Given the description of an element on the screen output the (x, y) to click on. 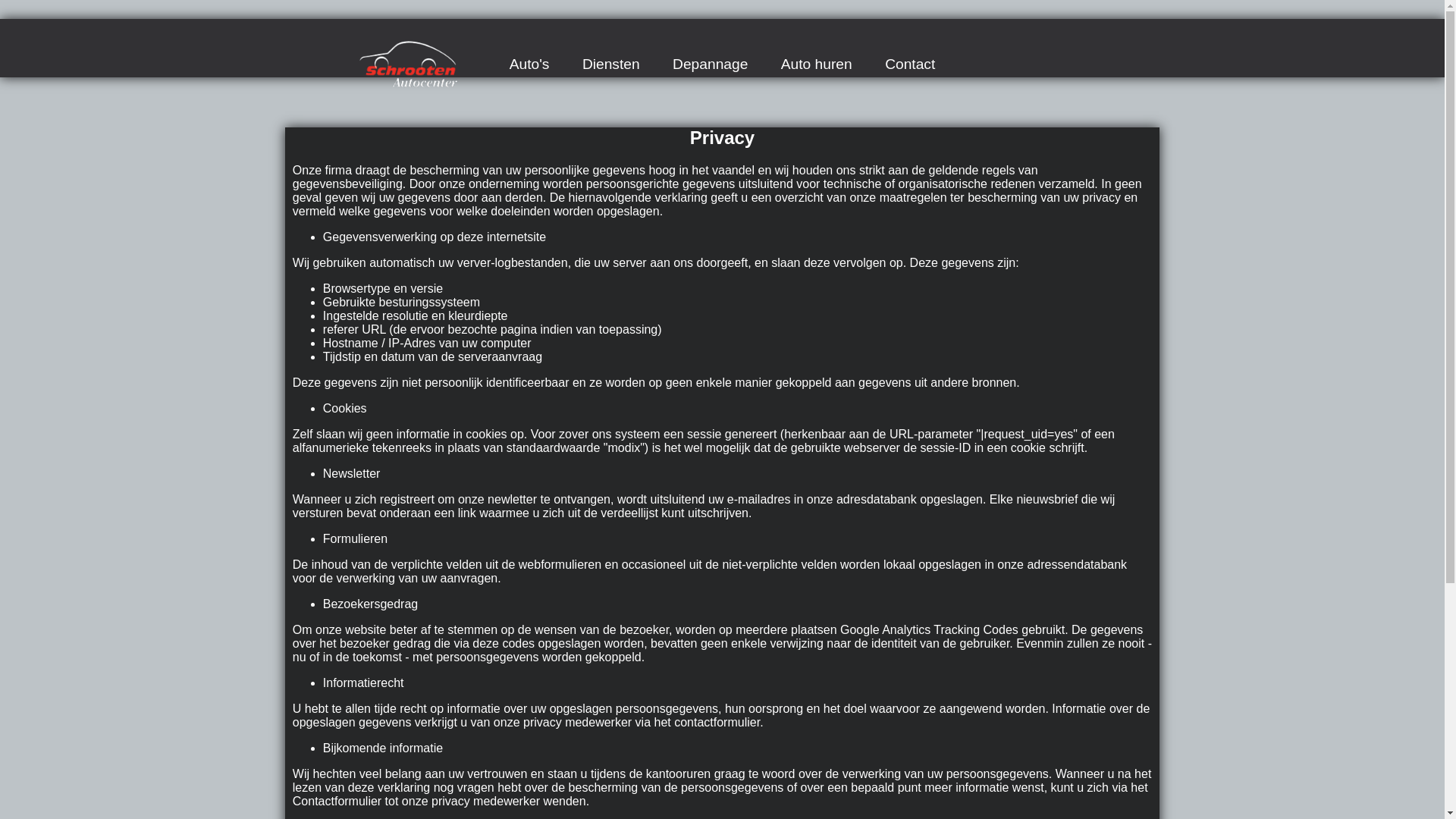
Depannage Element type: text (709, 64)
Auto's Element type: text (529, 64)
Auto huren Element type: text (816, 64)
Contact Element type: text (909, 64)
Diensten Element type: text (611, 64)
